Given the description of an element on the screen output the (x, y) to click on. 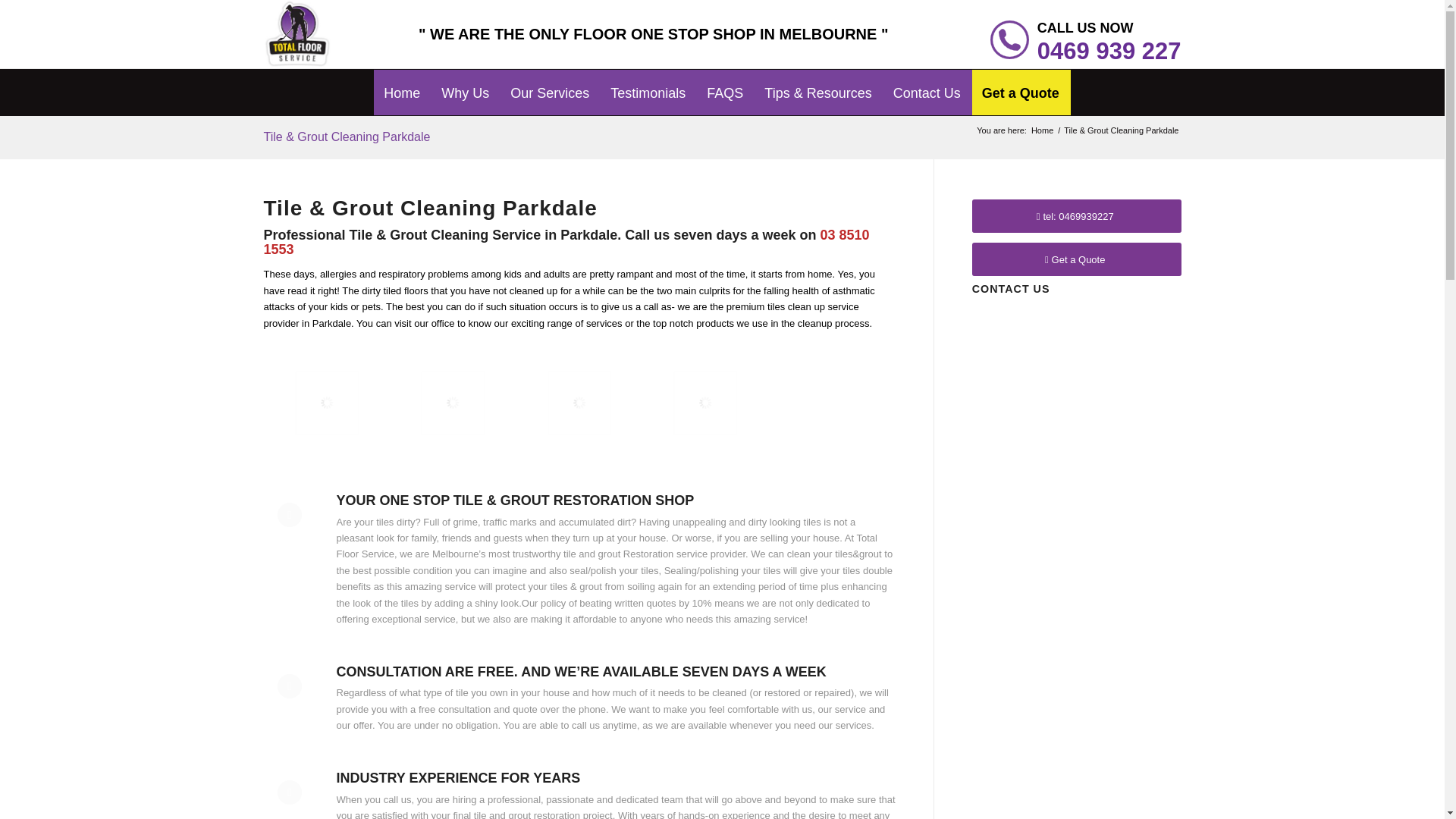
FAQS (724, 82)
Total Floor Service Melbourne (1042, 130)
Home (1042, 130)
Testimonials (647, 82)
Get a Quote (1020, 82)
Our Total Floor Services (549, 82)
Testimonials (647, 82)
Our Services (549, 82)
Tile cleaning Melbourne Experts (485, 434)
call icon (1009, 39)
FAQS (724, 82)
Contact Us (927, 82)
Why Choose Us (464, 82)
Total Floor Service Melbourne (401, 82)
Contact Us (927, 82)
